Given the description of an element on the screen output the (x, y) to click on. 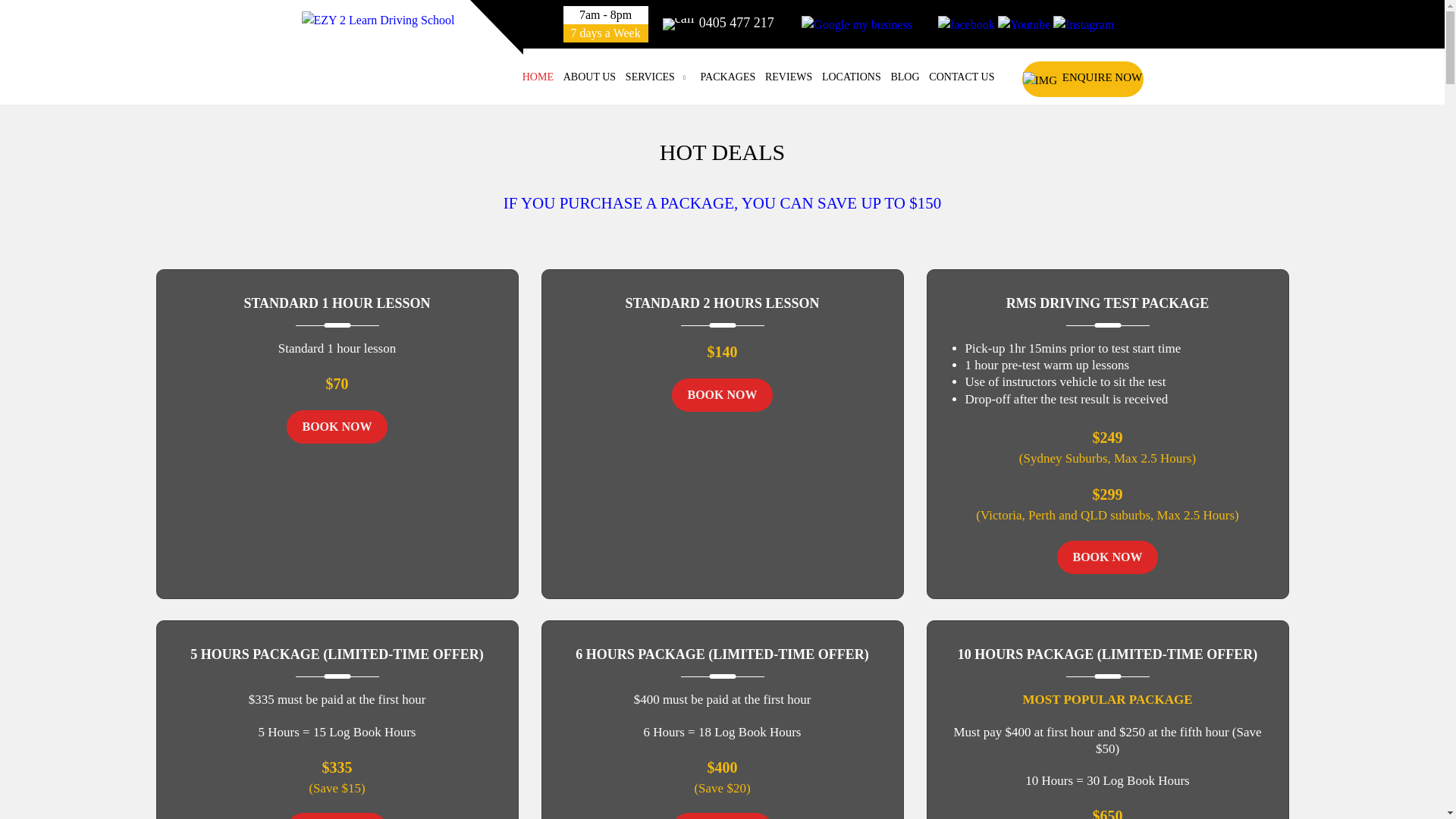
LOCATIONS Element type: text (851, 76)
HOME Element type: text (537, 76)
SERVICES Element type: text (657, 76)
0405 477 217 Element type: text (718, 22)
ENQUIRE NOW Element type: text (1082, 79)
PACKAGES Element type: text (727, 76)
BOOK NOW Element type: text (336, 426)
BLOG Element type: text (904, 76)
ABOUT US Element type: text (589, 76)
BOOK NOW Element type: text (721, 394)
CONTACT US Element type: text (961, 76)
Google my business Element type: hover (856, 24)
REVIEWS Element type: text (788, 76)
BOOK NOW Element type: text (1107, 557)
